Given the description of an element on the screen output the (x, y) to click on. 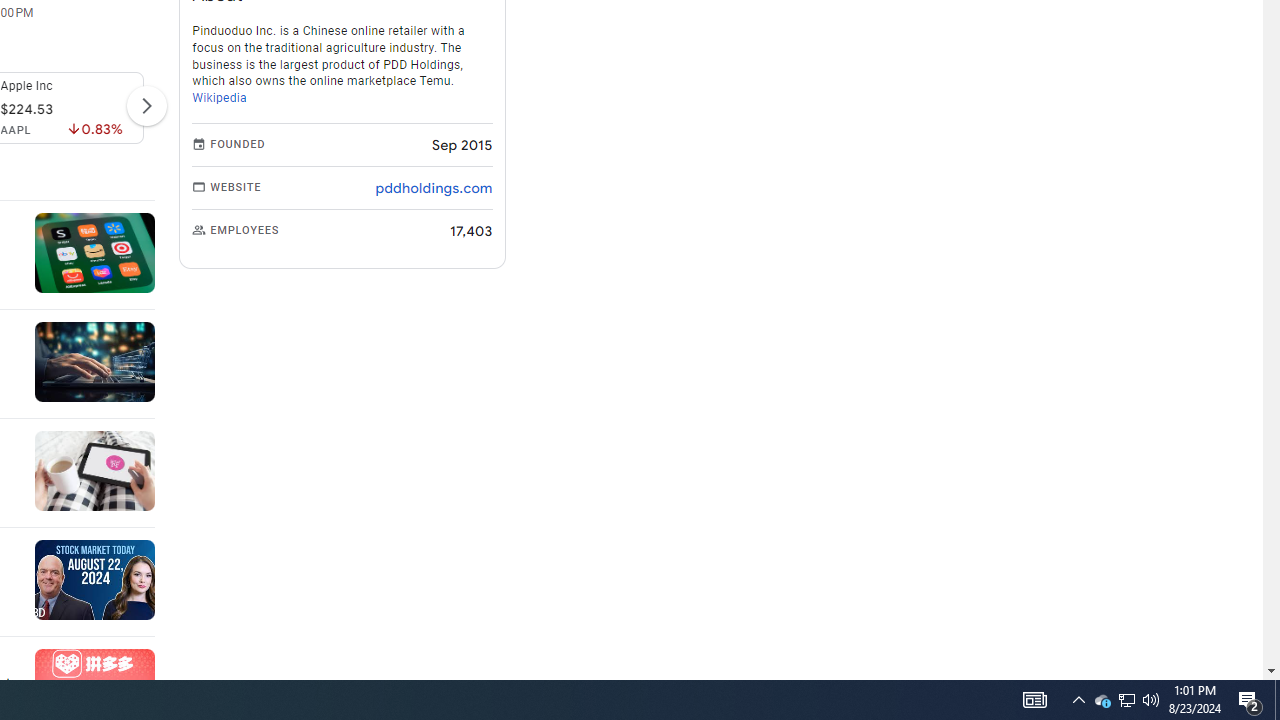
Wikipedia (219, 97)
pddholdings.com (433, 187)
